Given the description of an element on the screen output the (x, y) to click on. 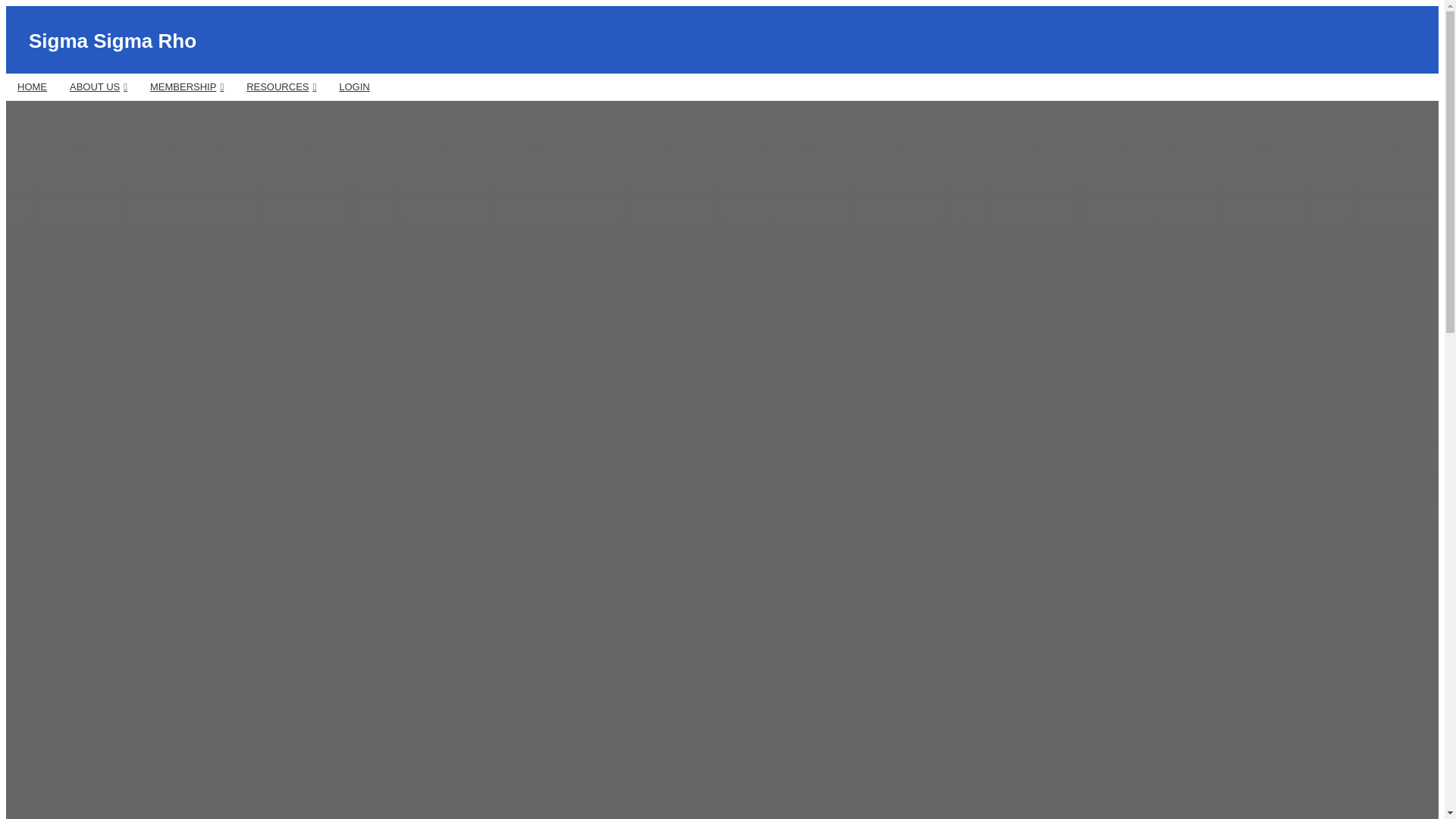
LOGIN (353, 86)
Sigma Sigma Rho (112, 40)
MEMBERSHIP (186, 86)
ABOUT US (98, 86)
HOME (31, 86)
RESOURCES (280, 86)
